Given the description of an element on the screen output the (x, y) to click on. 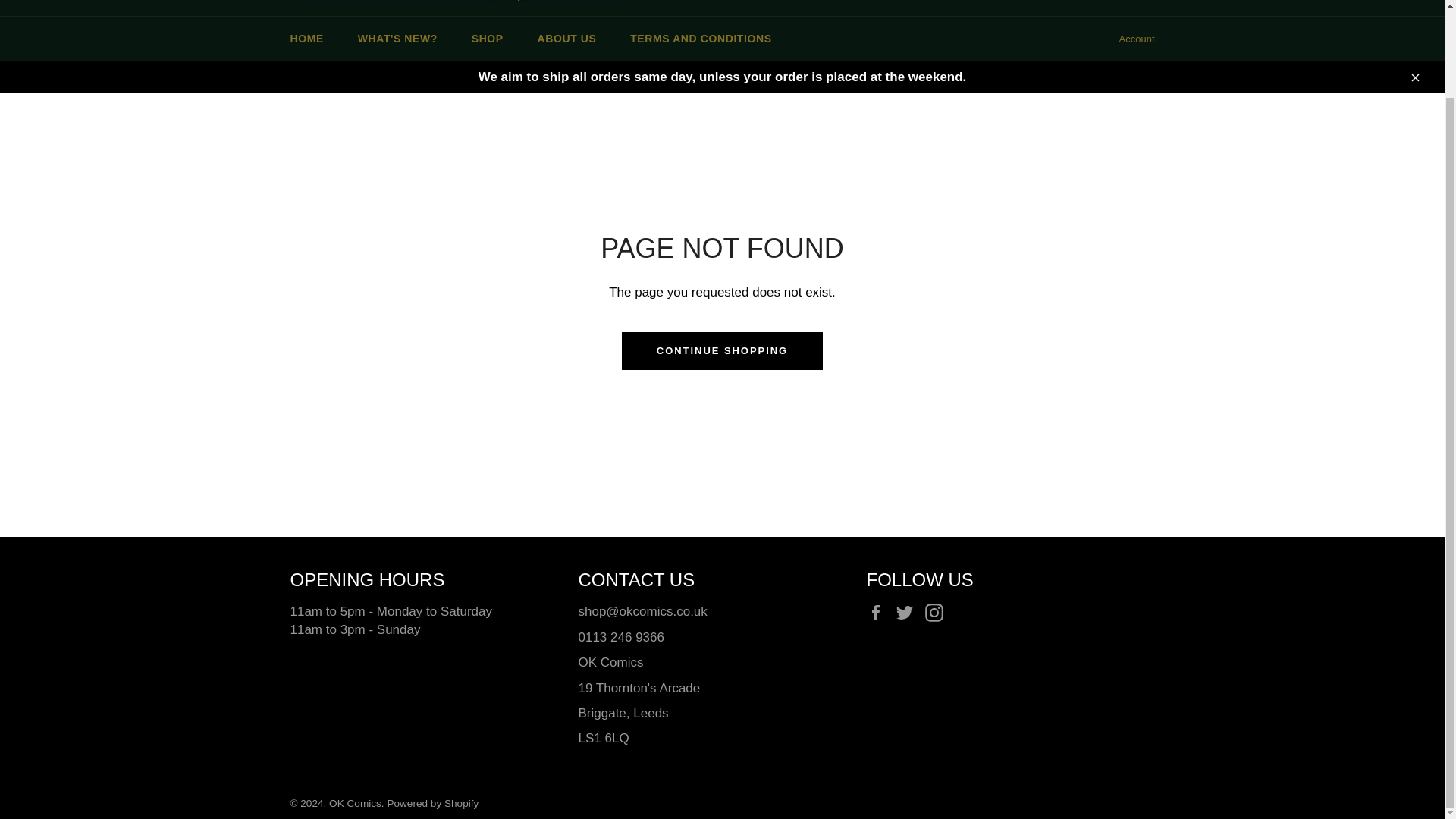
Instagram (937, 611)
CONTINUE SHOPPING (721, 351)
Powered by Shopify (433, 803)
Close (1414, 76)
ABOUT US (566, 38)
Facebook (878, 611)
OK Comics (355, 803)
HOME (306, 38)
TERMS AND CONDITIONS (700, 38)
OK Comics on Facebook (878, 611)
